Given the description of an element on the screen output the (x, y) to click on. 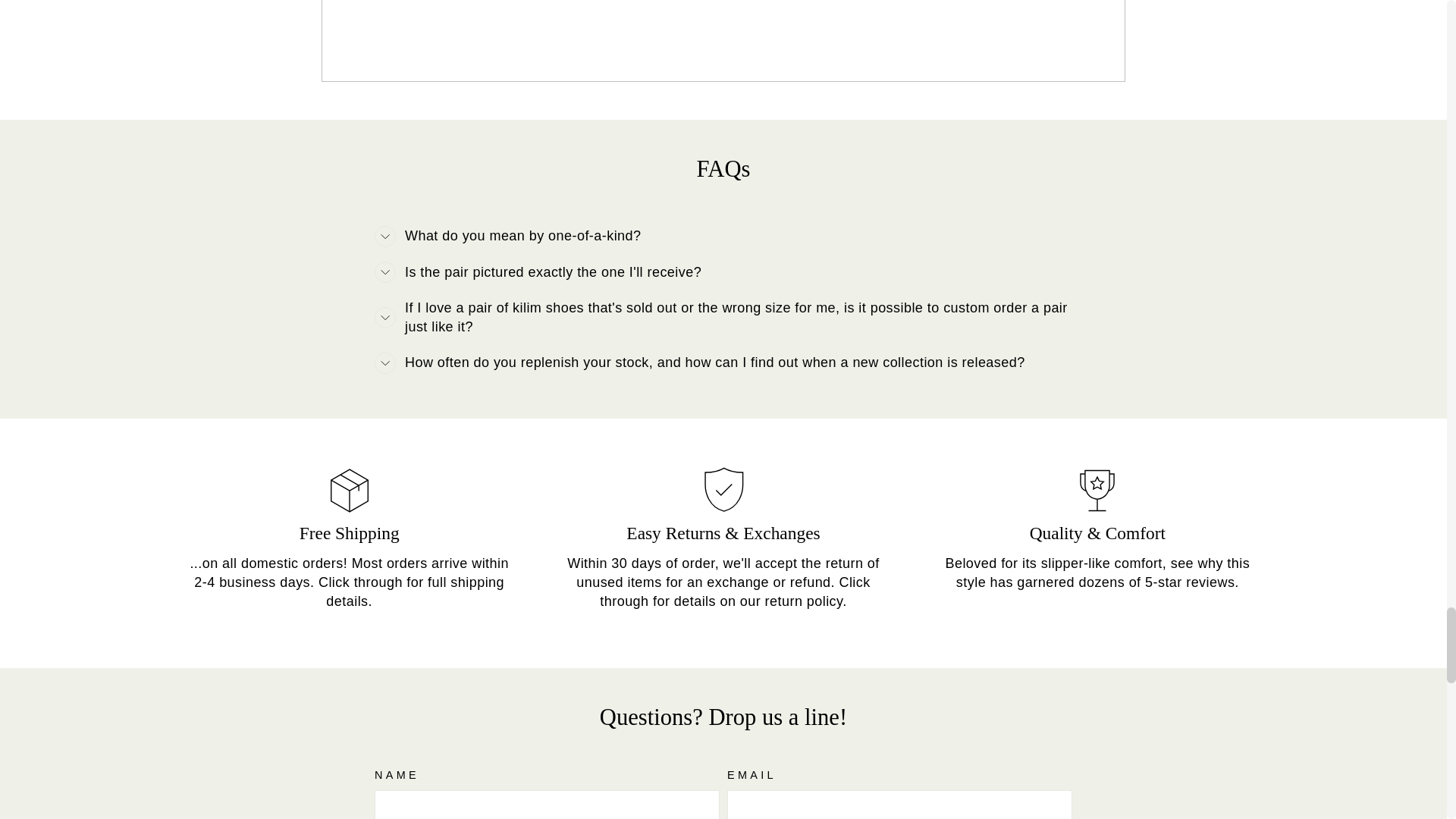
FAQ - New (723, 582)
FAQ - New (348, 582)
